Given the description of an element on the screen output the (x, y) to click on. 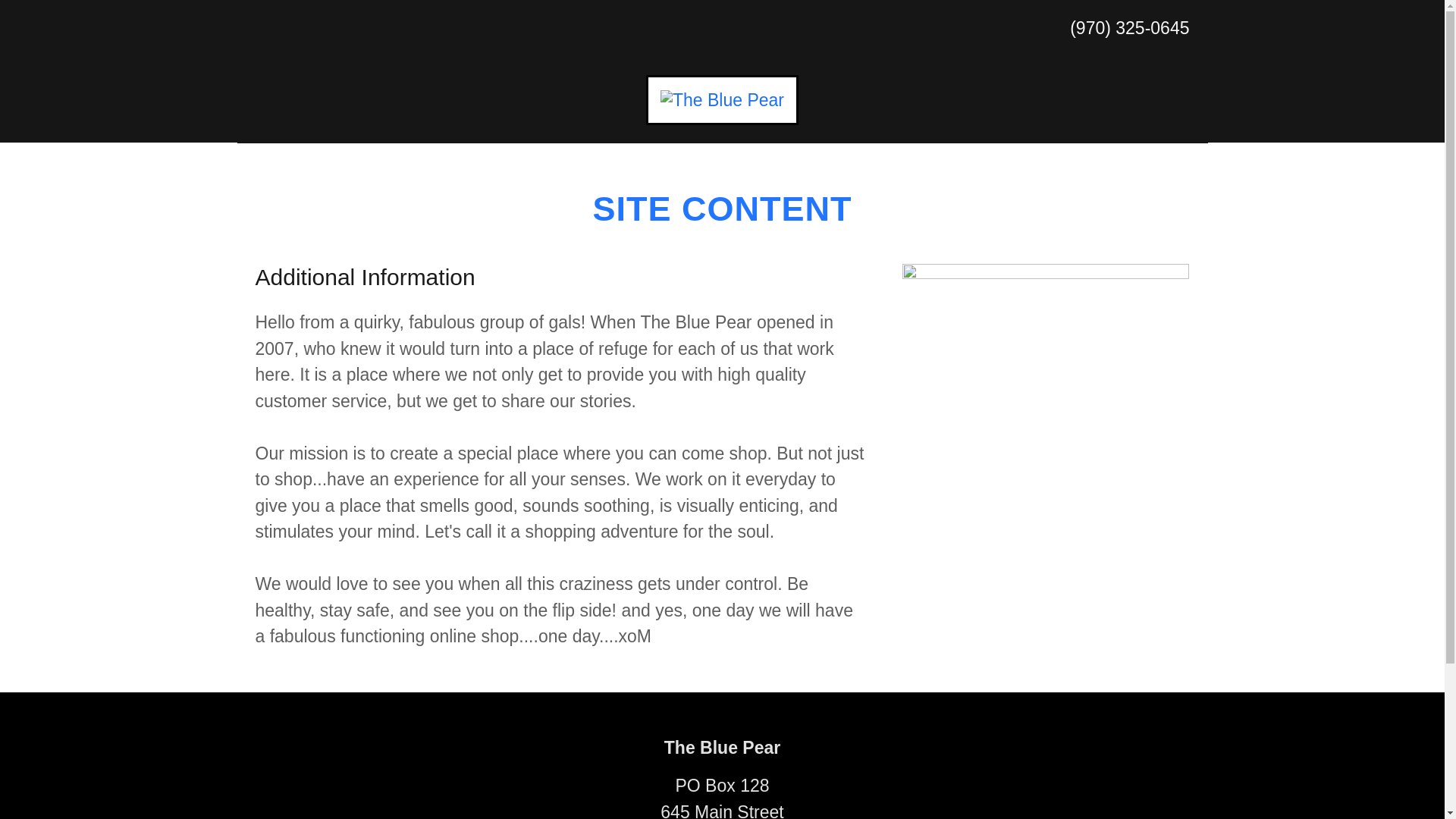
The Blue Pear  (722, 98)
